Given the description of an element on the screen output the (x, y) to click on. 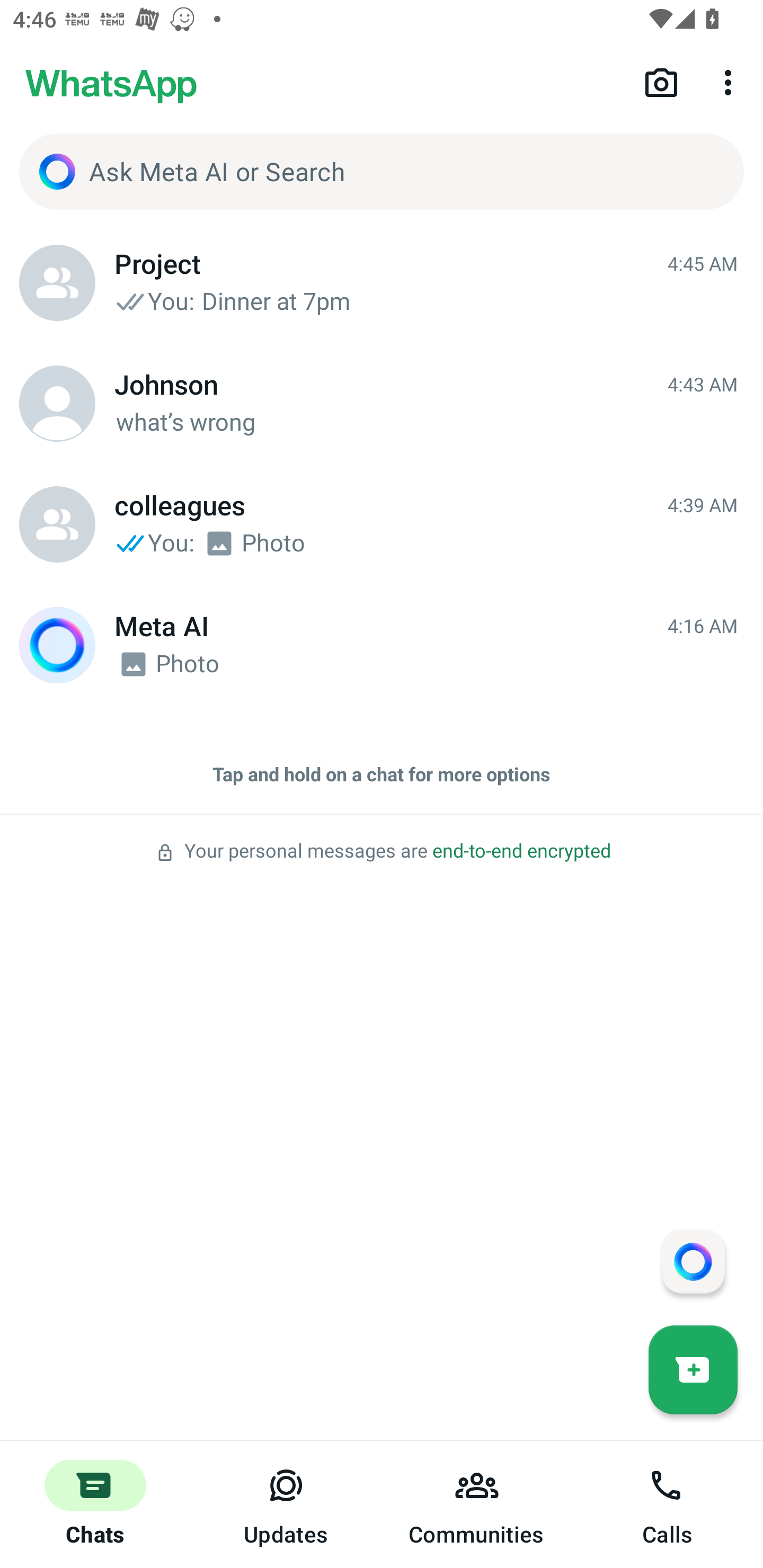
Camera (661, 81)
More options (731, 81)
Project (57, 282)
Johnson Johnson 4:43 AM 4:43 AM what’s wrong (381, 403)
Johnson (57, 403)
colleagues colleagues 4:39 AM 4:39 AM You:  Photo (381, 524)
colleagues (57, 524)
Meta AI Meta AI 4:16 AM 4:16 AM Photo (381, 644)
Meta AI (57, 644)
end-to-end encrypted (521, 851)
Message your assistant (692, 1261)
New chat (692, 1369)
Updates (285, 1504)
Communities (476, 1504)
Calls (667, 1504)
